Given the description of an element on the screen output the (x, y) to click on. 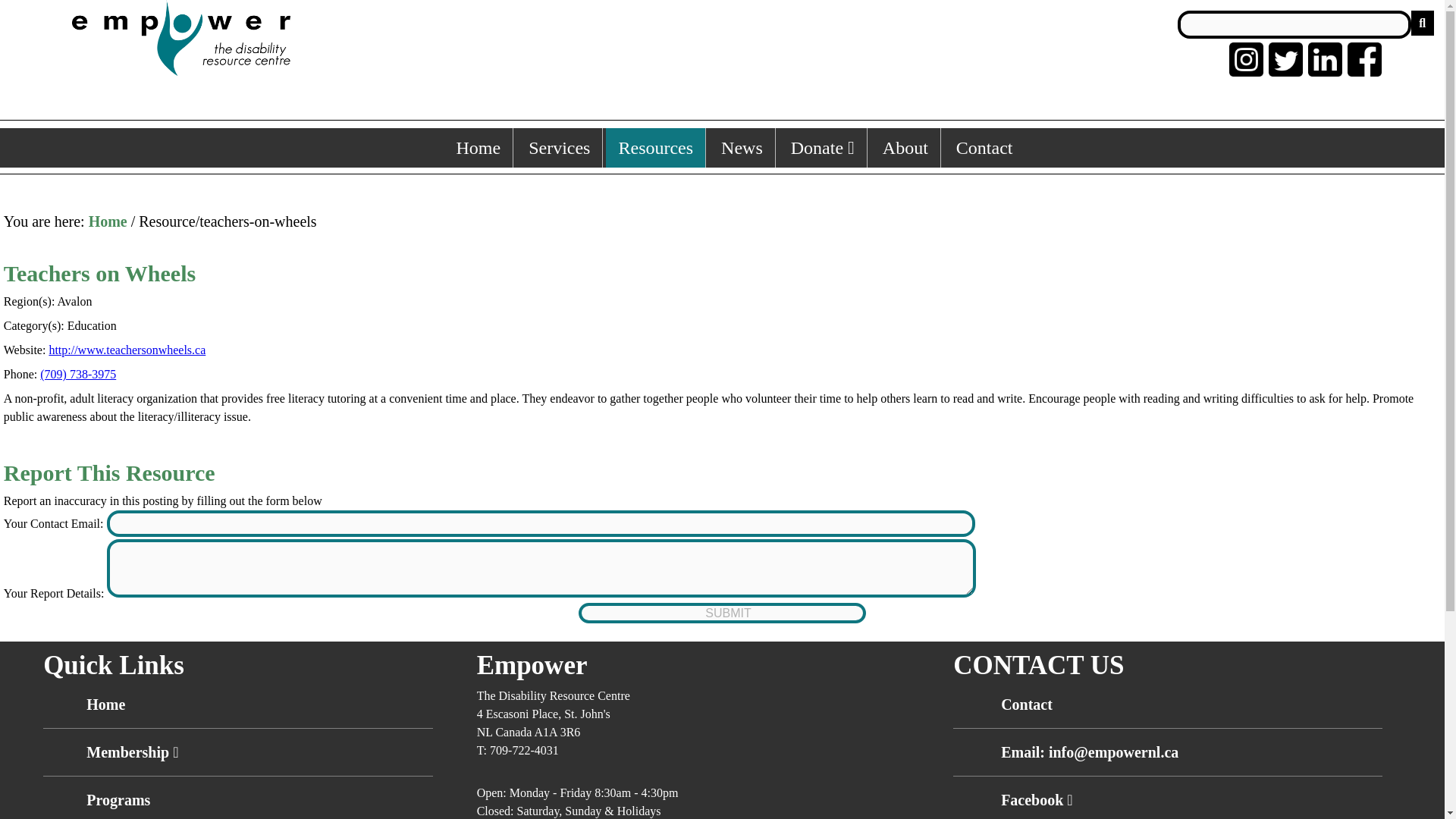
Programs (117, 799)
Contact (1026, 704)
SUBMIT (722, 612)
Donate (822, 147)
Home (105, 704)
Home (478, 147)
Resources (654, 147)
SUBMIT (722, 612)
Home (108, 221)
Services (559, 147)
